Given the description of an element on the screen output the (x, y) to click on. 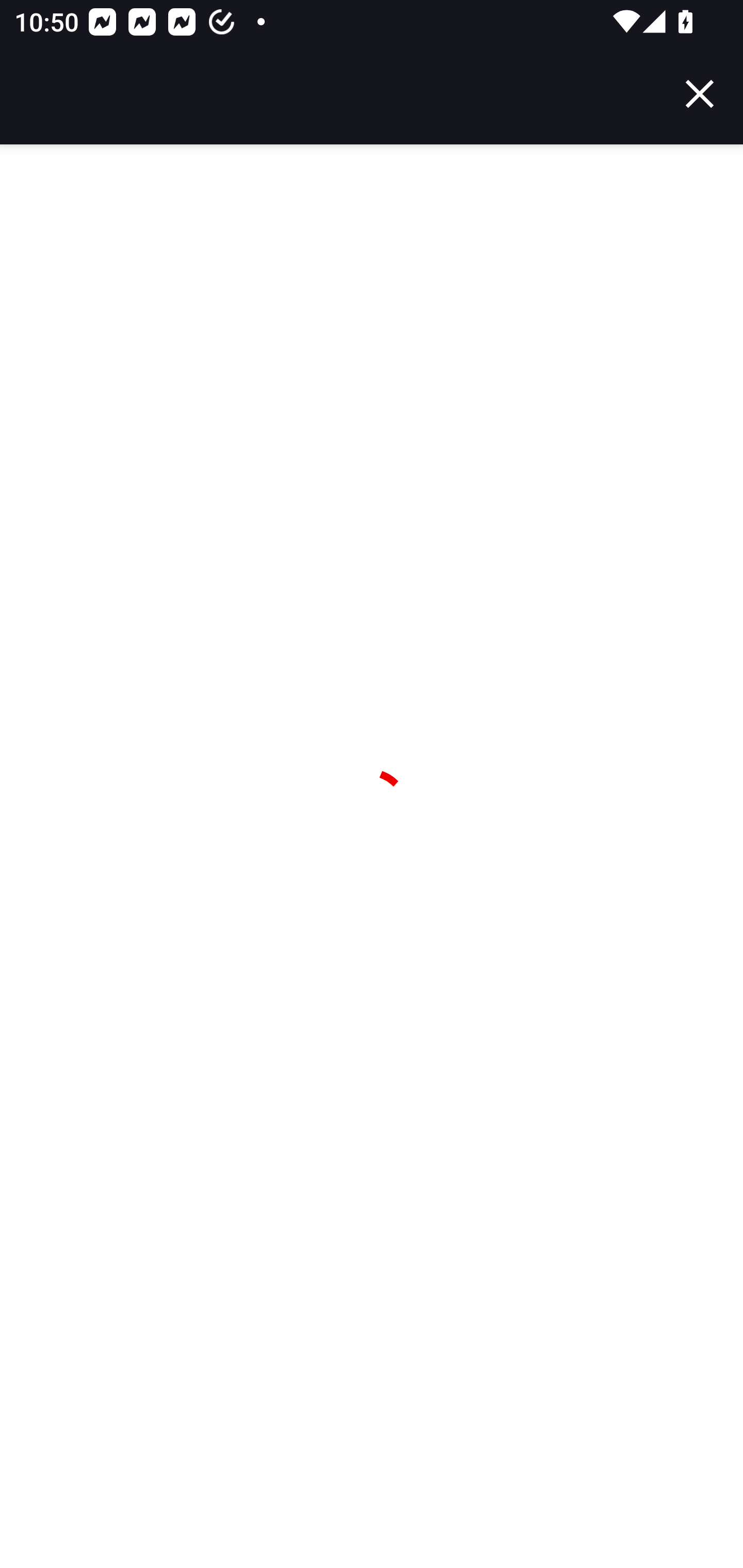
Close (699, 93)
